Given the description of an element on the screen output the (x, y) to click on. 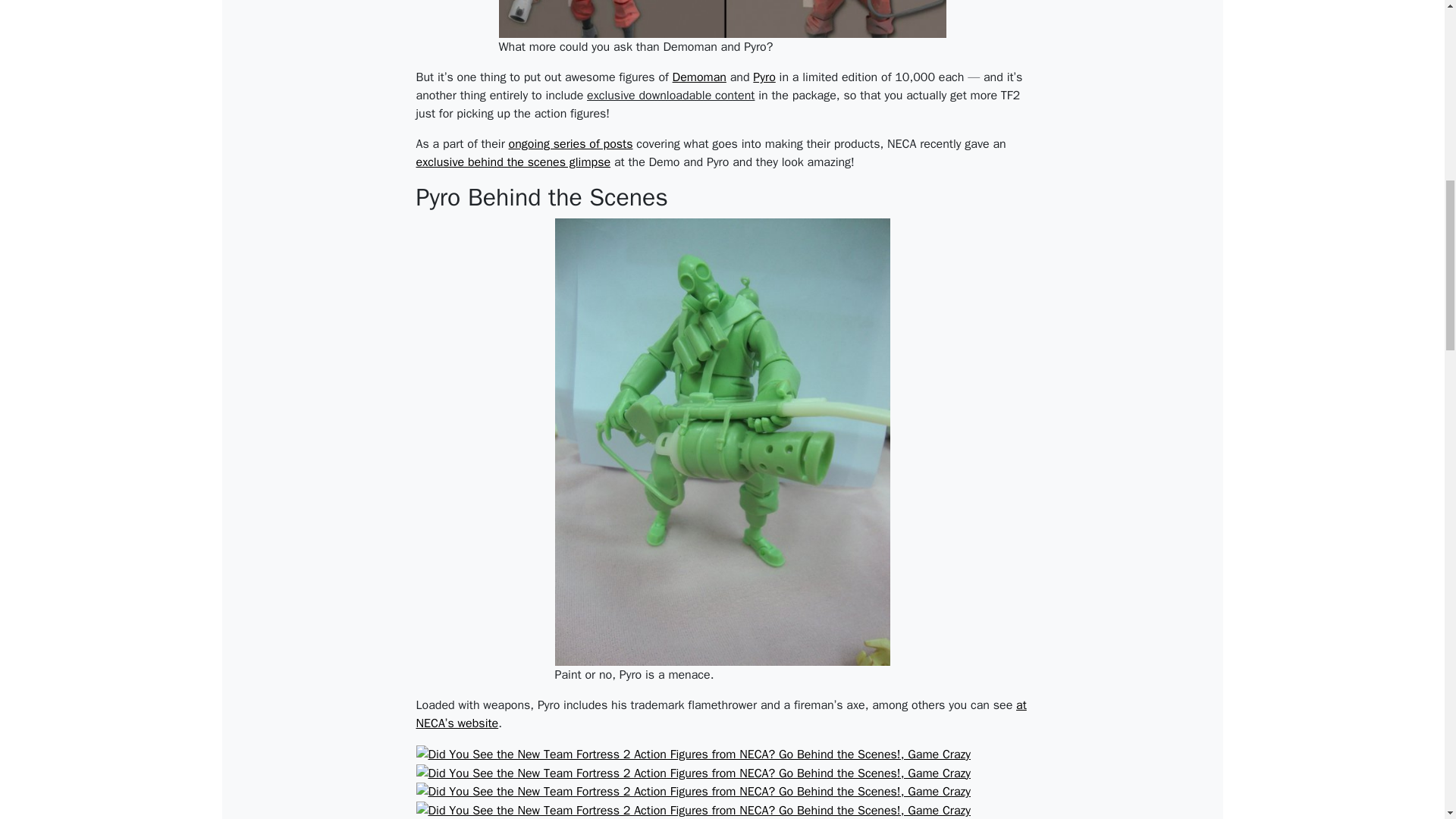
NECA Team Fortress Action Figures - Pyro 6 (692, 810)
NECA Team Fortress Action Figures Pyro 5 (692, 791)
NECA Team Fortress Action Figures - Pyro 3 (692, 754)
NECA Team Fortress Action Figures Pyro 6 (692, 809)
Ongoing Series Of Posts (570, 143)
tf-feat (722, 18)
ongoing series of posts (570, 143)
Demoman (699, 77)
Pyro (763, 77)
NECA Team Fortress Action Figures Pyro 4 (692, 772)
NECA Behind The Scenes With Team Fortress 2 (512, 161)
NECA Team Fortress Action Figures - Pyro 5 (692, 791)
NECA Team Fortress Action Figures Pyro 3 (692, 753)
exclusive behind the scenes glimpse (512, 161)
NECA Team Fortress Action Figures - Pyro 4 (692, 773)
